Given the description of an element on the screen output the (x, y) to click on. 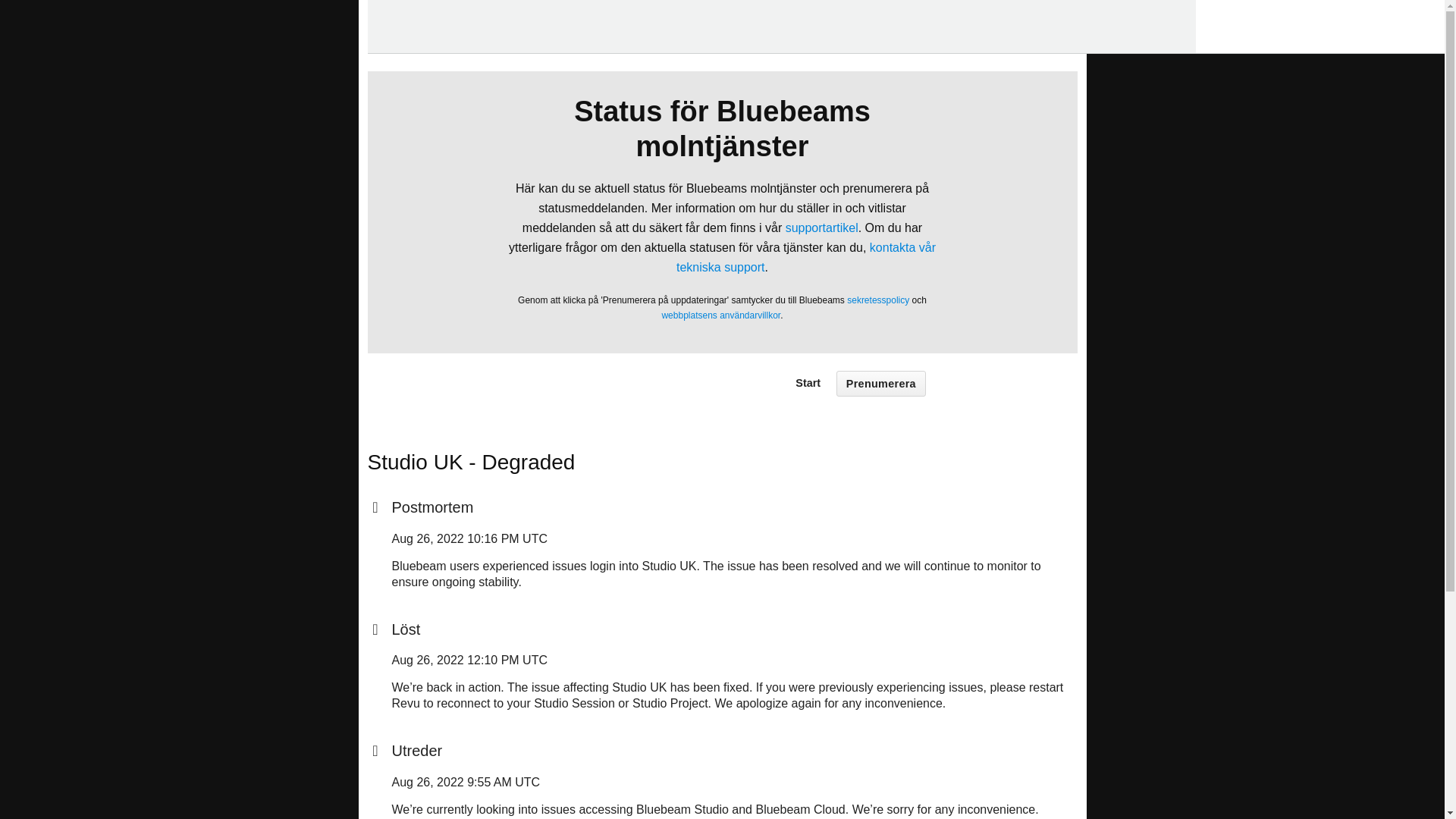
supportartikel (822, 227)
Start (808, 382)
Prenumerera (880, 383)
sekretesspolicy (877, 299)
